Given the description of an element on the screen output the (x, y) to click on. 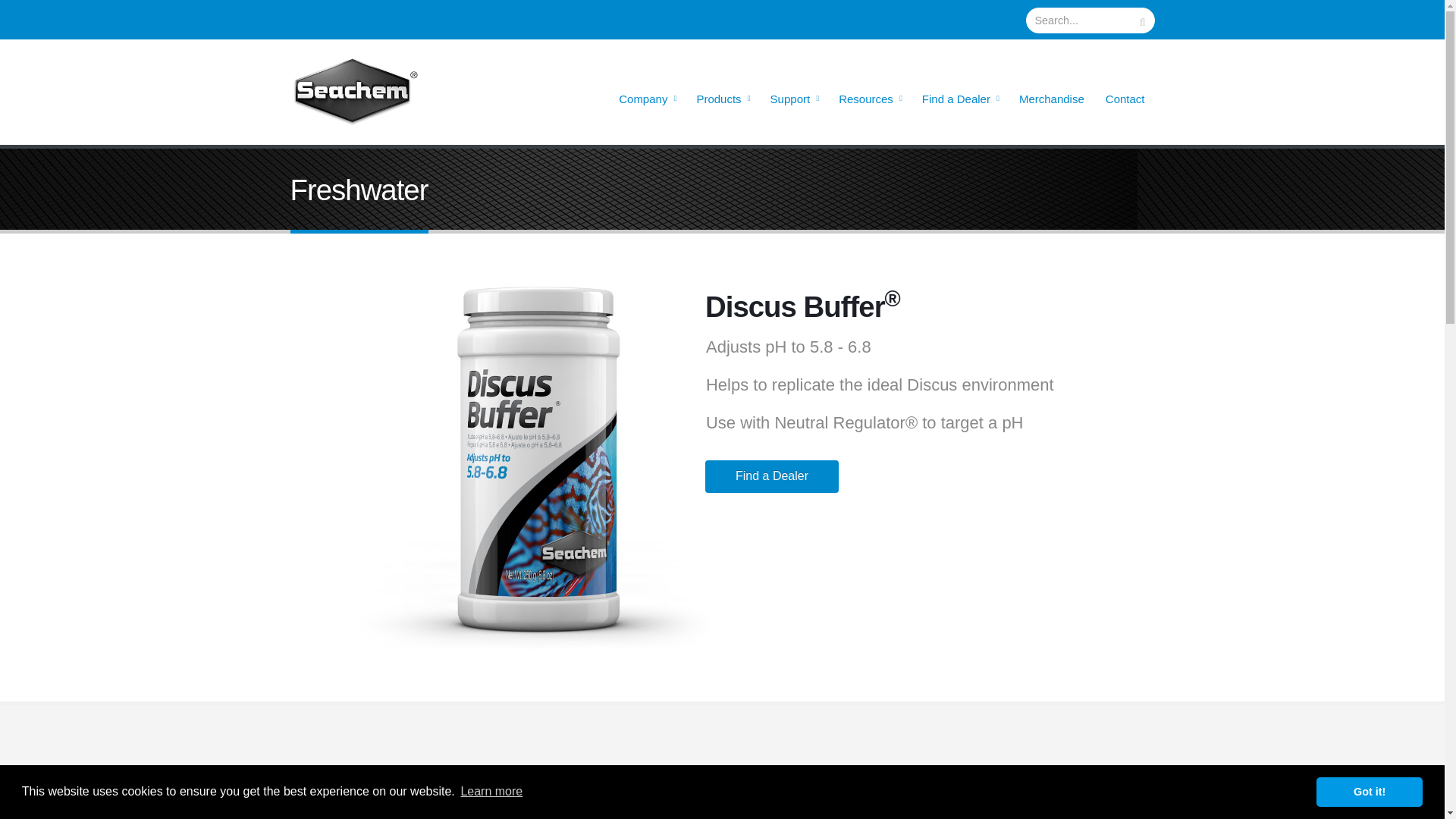
Learn more (491, 791)
Products (721, 98)
Company (646, 98)
Got it! (1369, 791)
